Given the description of an element on the screen output the (x, y) to click on. 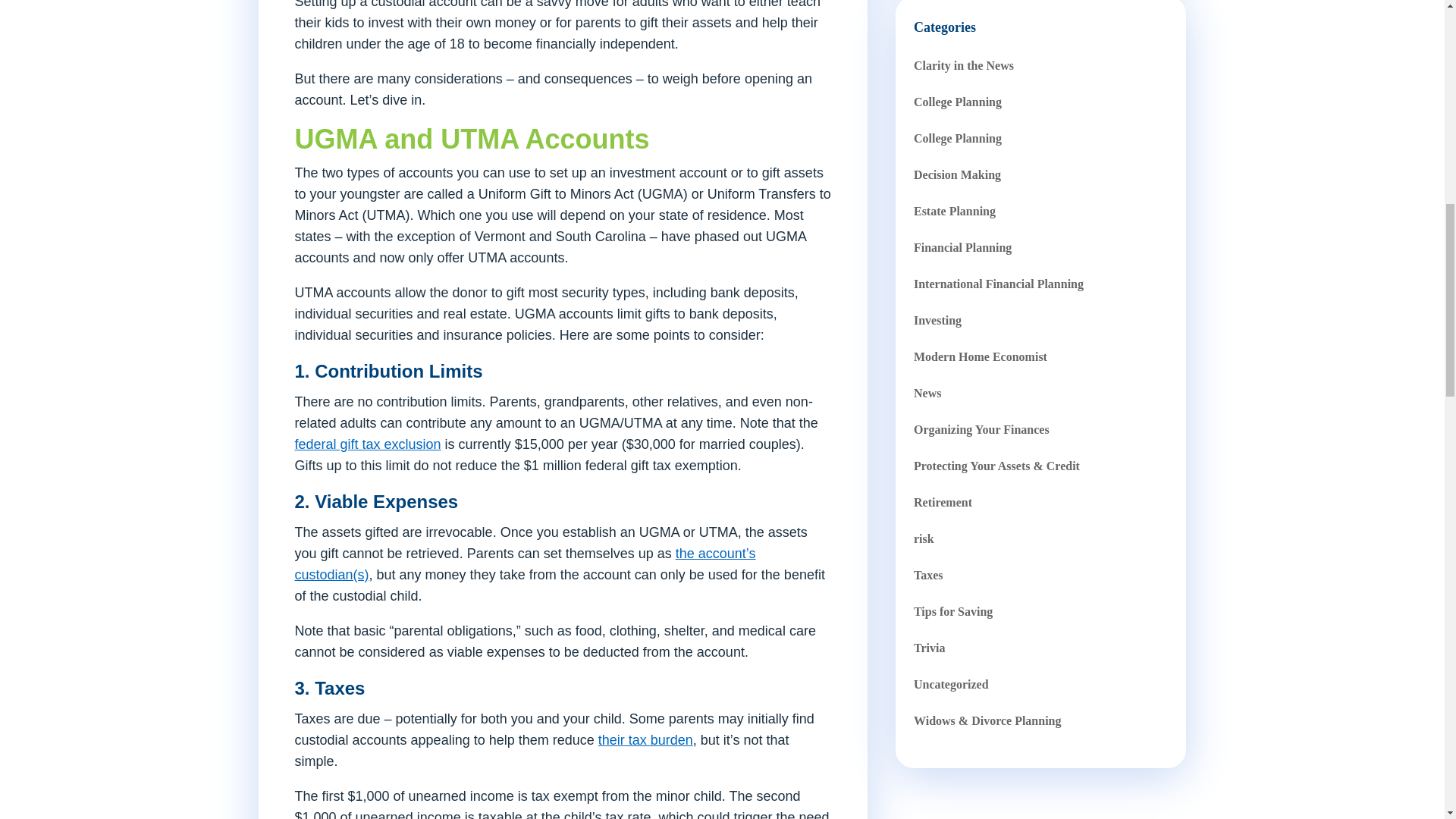
their tax burden (645, 739)
Clarity in the News (963, 65)
federal gift tax exclusion (367, 444)
